Given the description of an element on the screen output the (x, y) to click on. 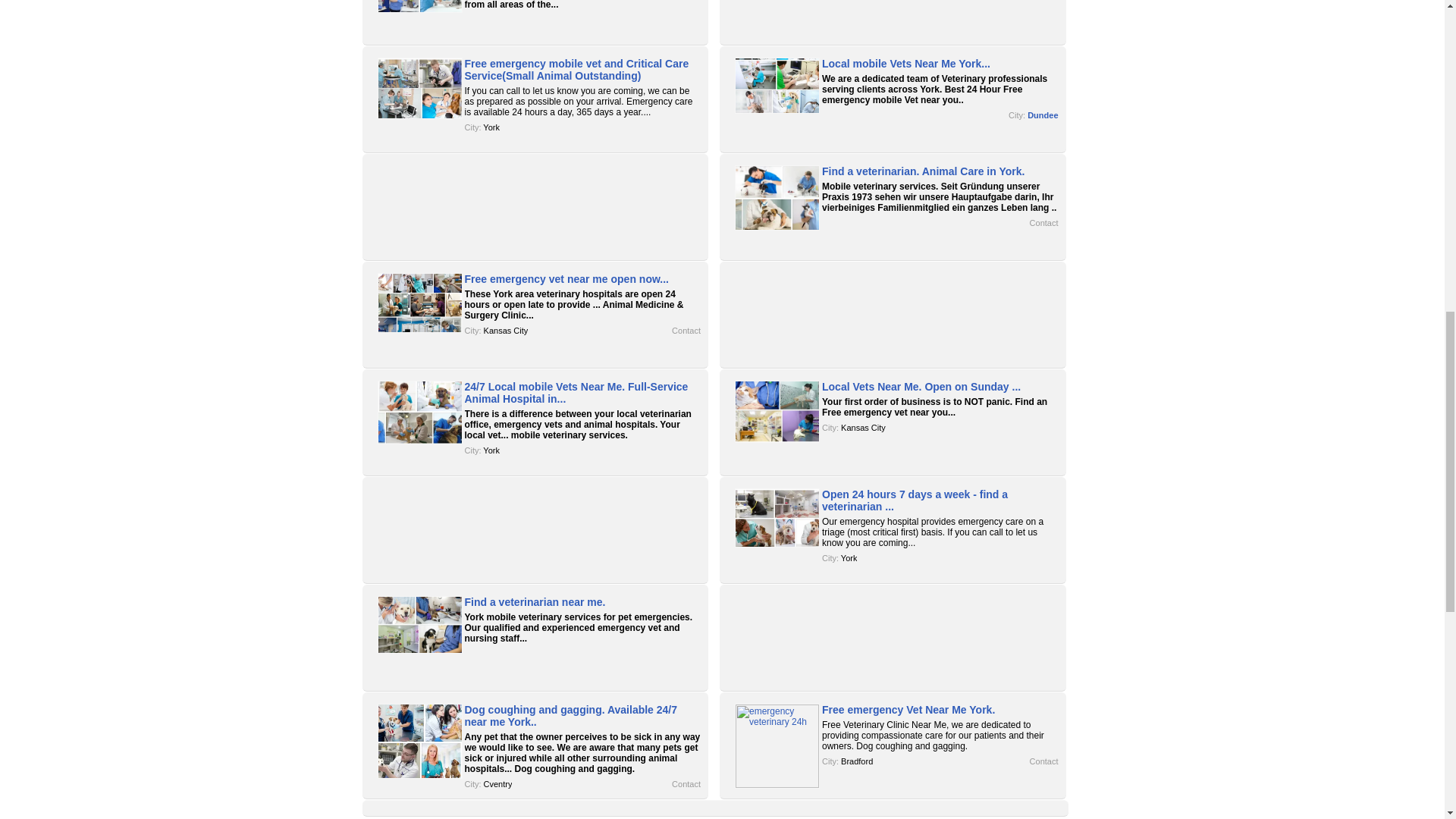
near me Coventry (497, 783)
Local Vets Near Me. Open on Sunday ... (921, 386)
Dundee (1042, 114)
York (491, 450)
Advertisement (892, 18)
Local mobile Vets Near Me York... (906, 63)
Find a veterinarian near me. (534, 602)
Find a veterinarian. Animal Care in York. (923, 171)
Veterinary Specialists York (491, 126)
York (849, 557)
